Given the description of an element on the screen output the (x, y) to click on. 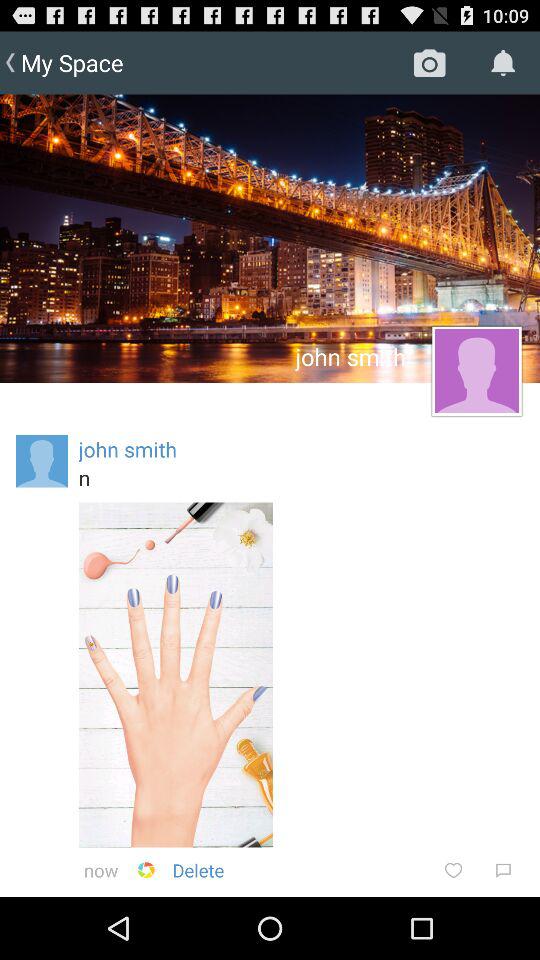
open the item below n (175, 674)
